Given the description of an element on the screen output the (x, y) to click on. 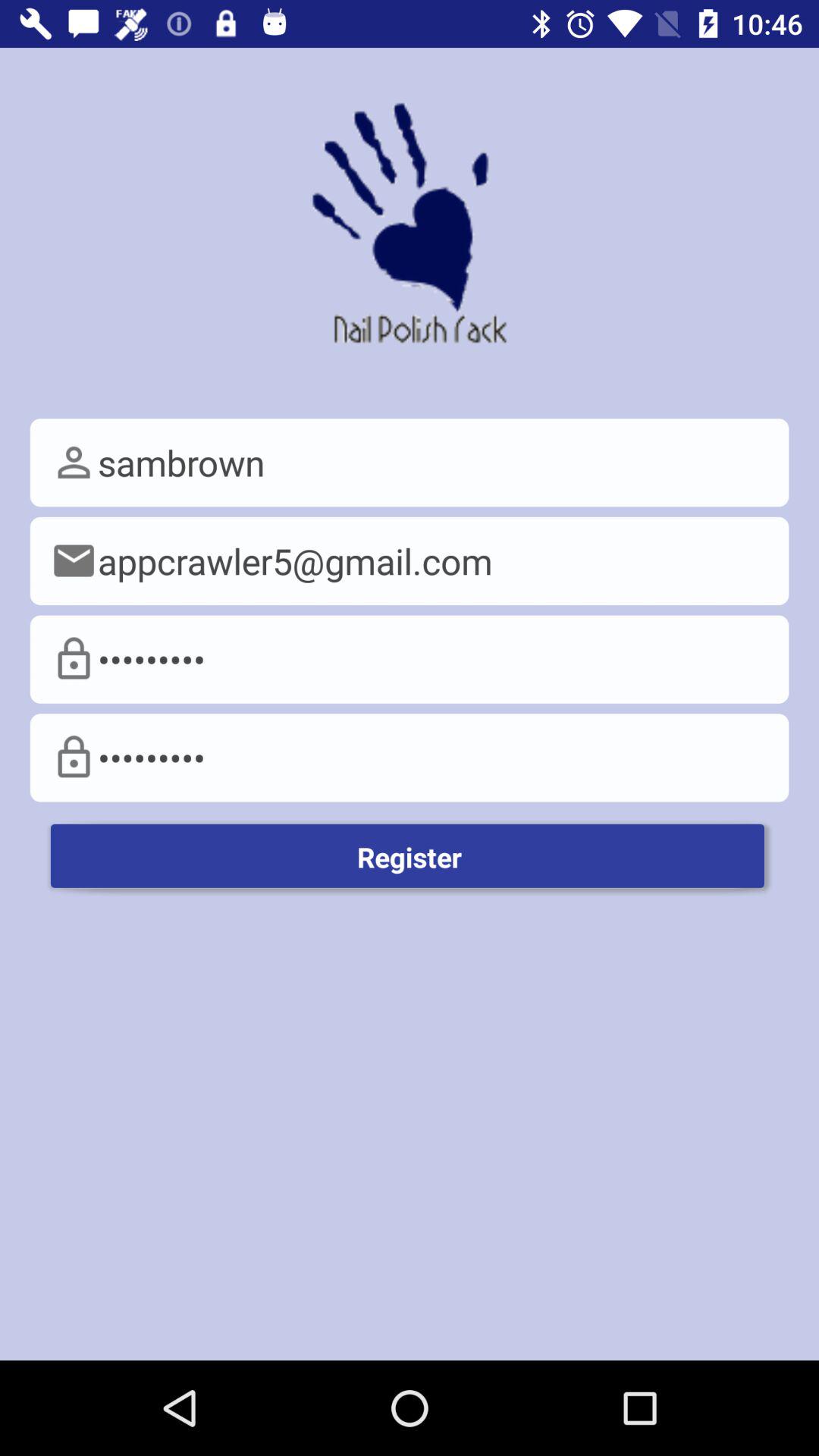
launch the sambrown item (409, 462)
